Given the description of an element on the screen output the (x, y) to click on. 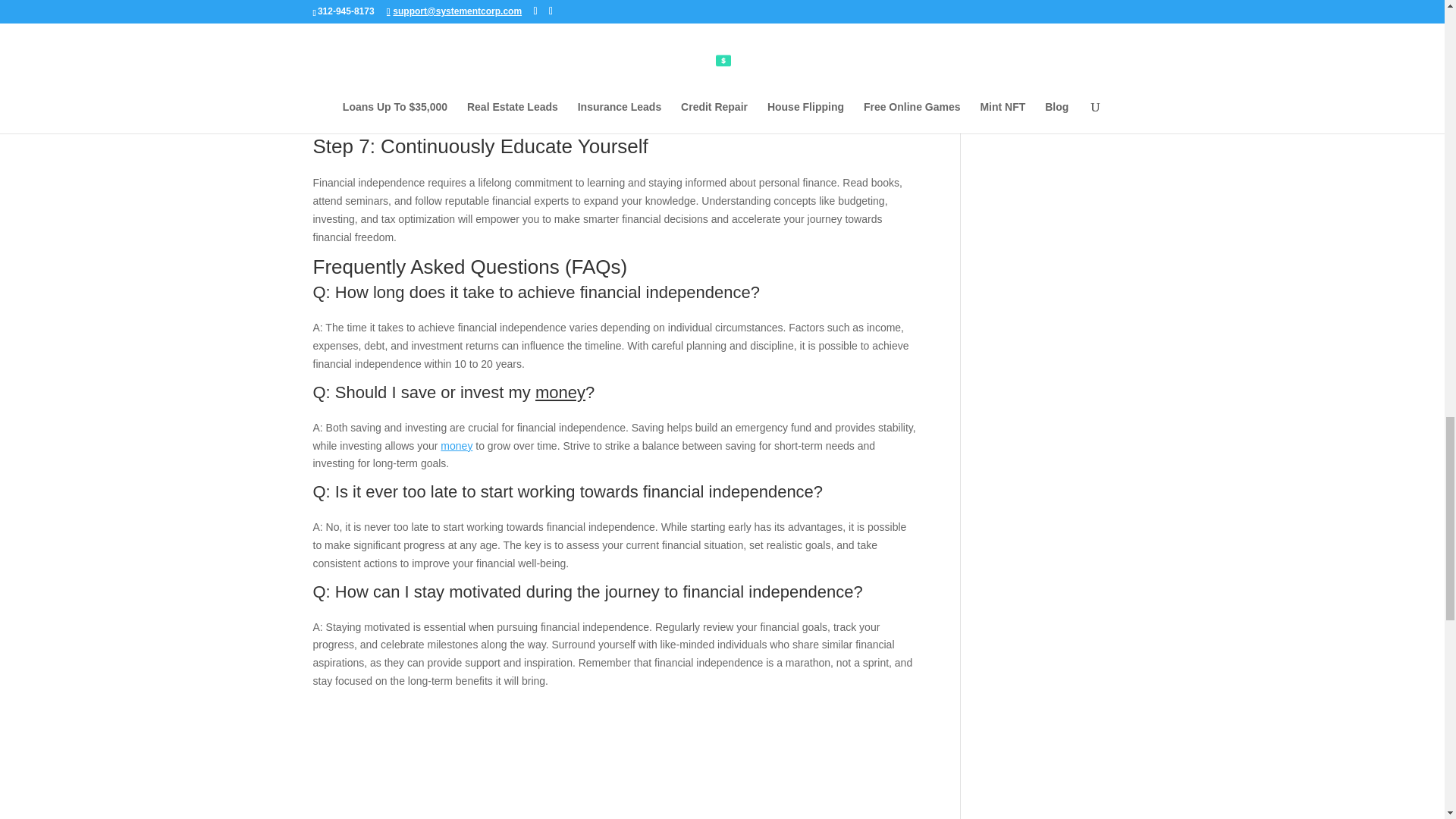
money (456, 445)
wealth (514, 61)
money (560, 392)
